Given the description of an element on the screen output the (x, y) to click on. 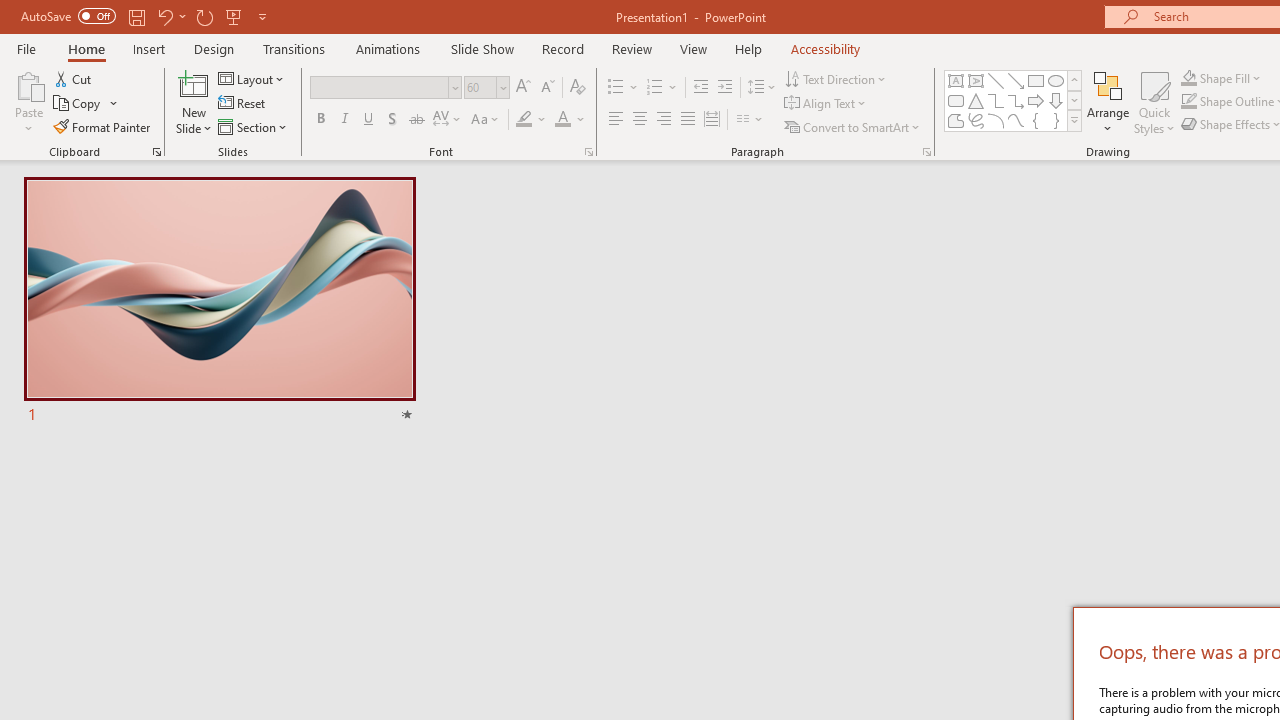
AutomationID: ShapesInsertGallery (1014, 100)
Text Highlight Color Yellow (524, 119)
Line Arrow (1016, 80)
Isosceles Triangle (975, 100)
Cut (73, 78)
Shape Fill Orange, Accent 2 (1188, 78)
Distributed (712, 119)
Change Case (486, 119)
Line Spacing (762, 87)
